Given the description of an element on the screen output the (x, y) to click on. 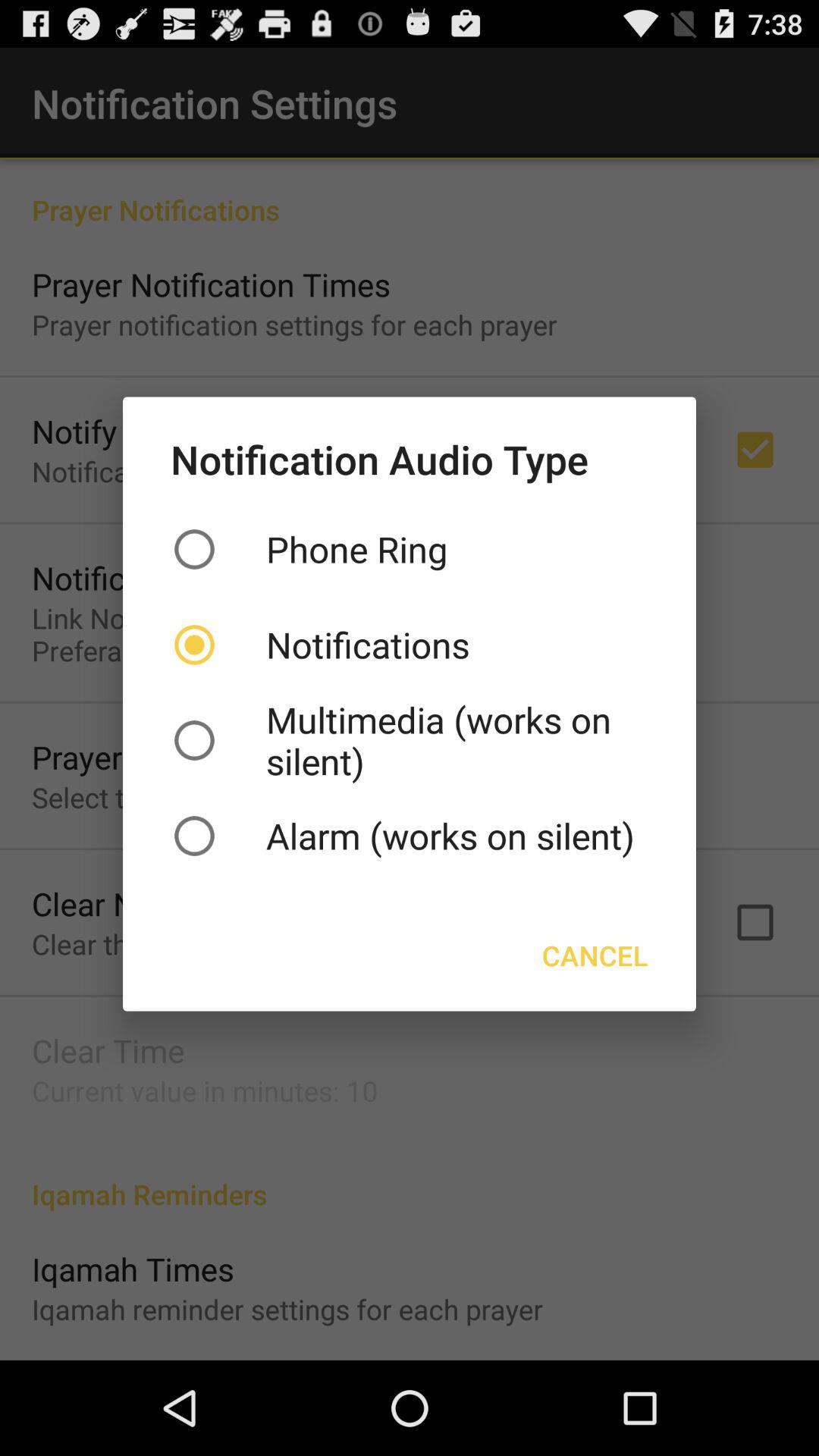
choose the item below the alarm works on item (595, 955)
